Given the description of an element on the screen output the (x, y) to click on. 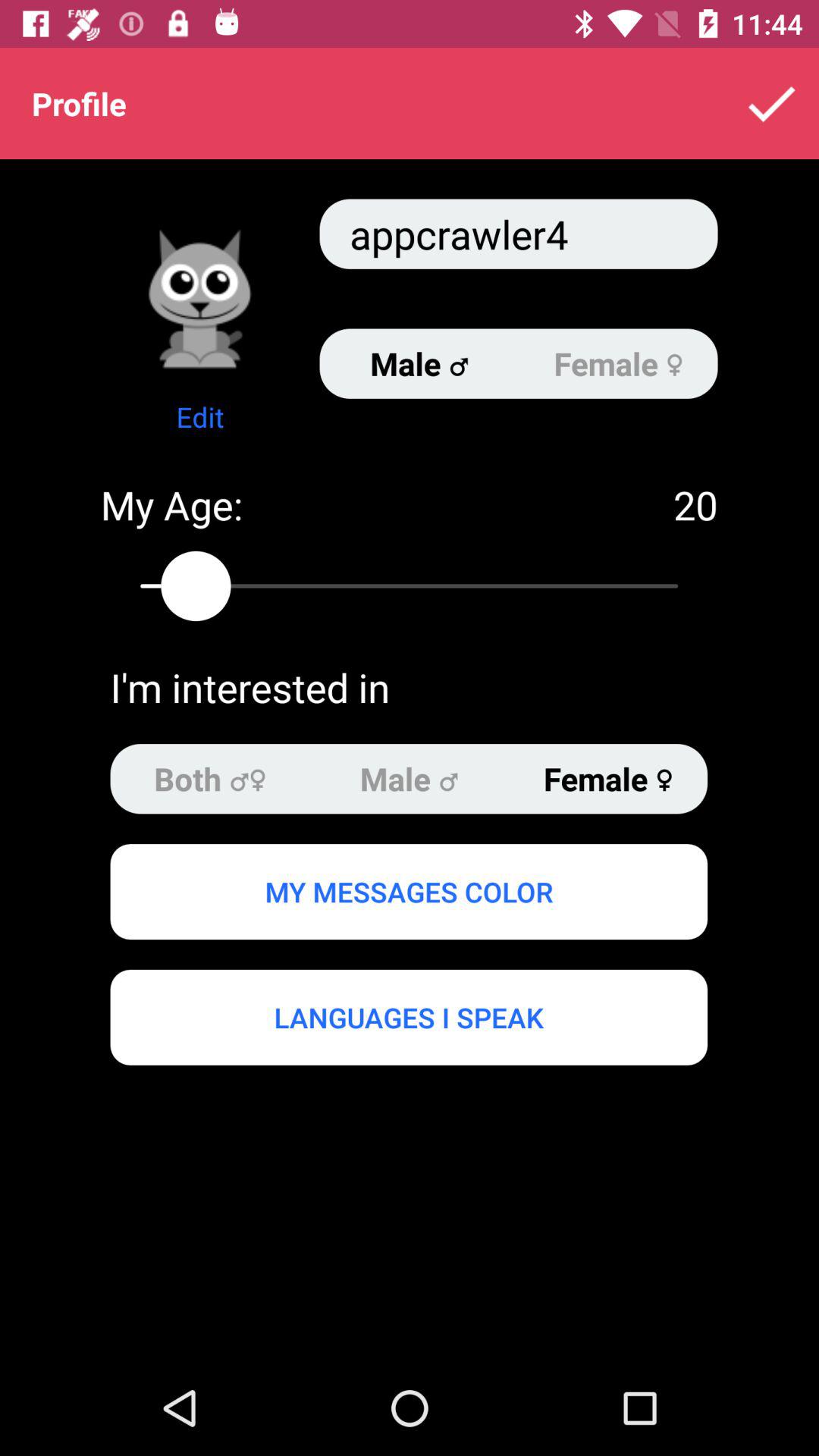
turn off the icon above edit item (199, 298)
